Given the description of an element on the screen output the (x, y) to click on. 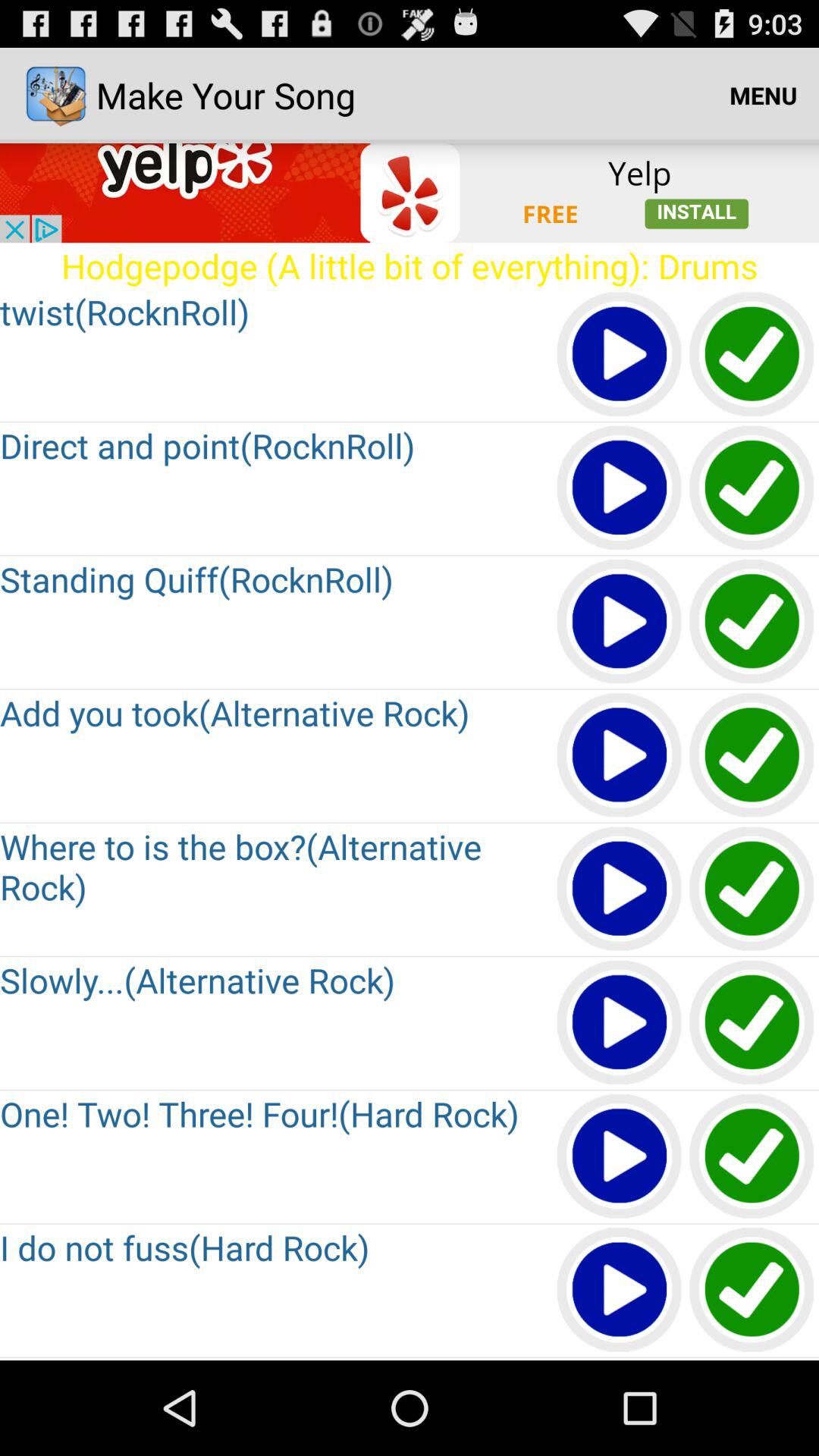
play button (619, 488)
